Given the description of an element on the screen output the (x, y) to click on. 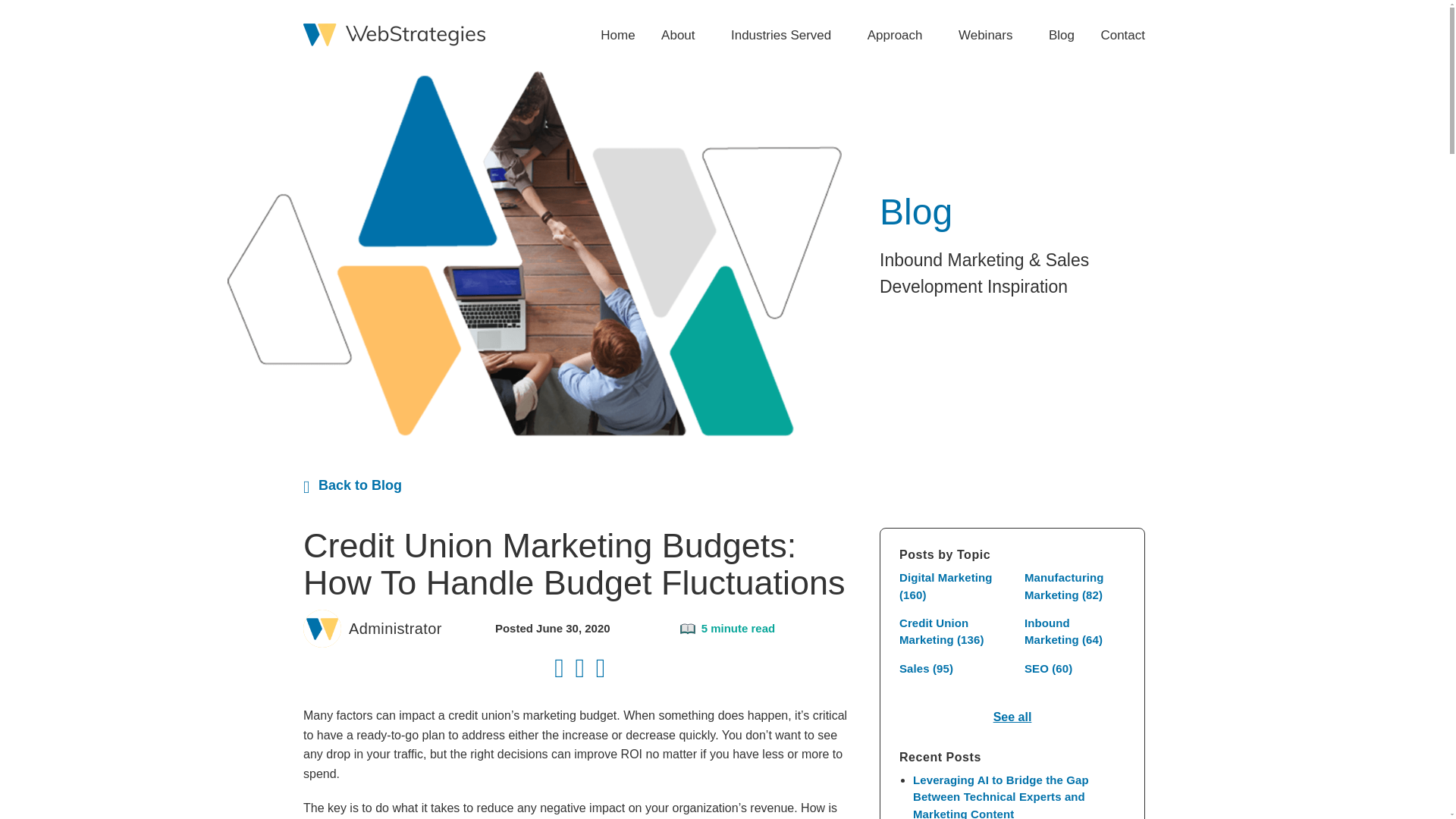
Home (617, 35)
Back to Blog (351, 485)
Contact (1116, 35)
Industries Served (785, 35)
Blog (1061, 35)
Webinars (990, 35)
About (682, 35)
Approach (899, 35)
Administrator (395, 628)
